Given the description of an element on the screen output the (x, y) to click on. 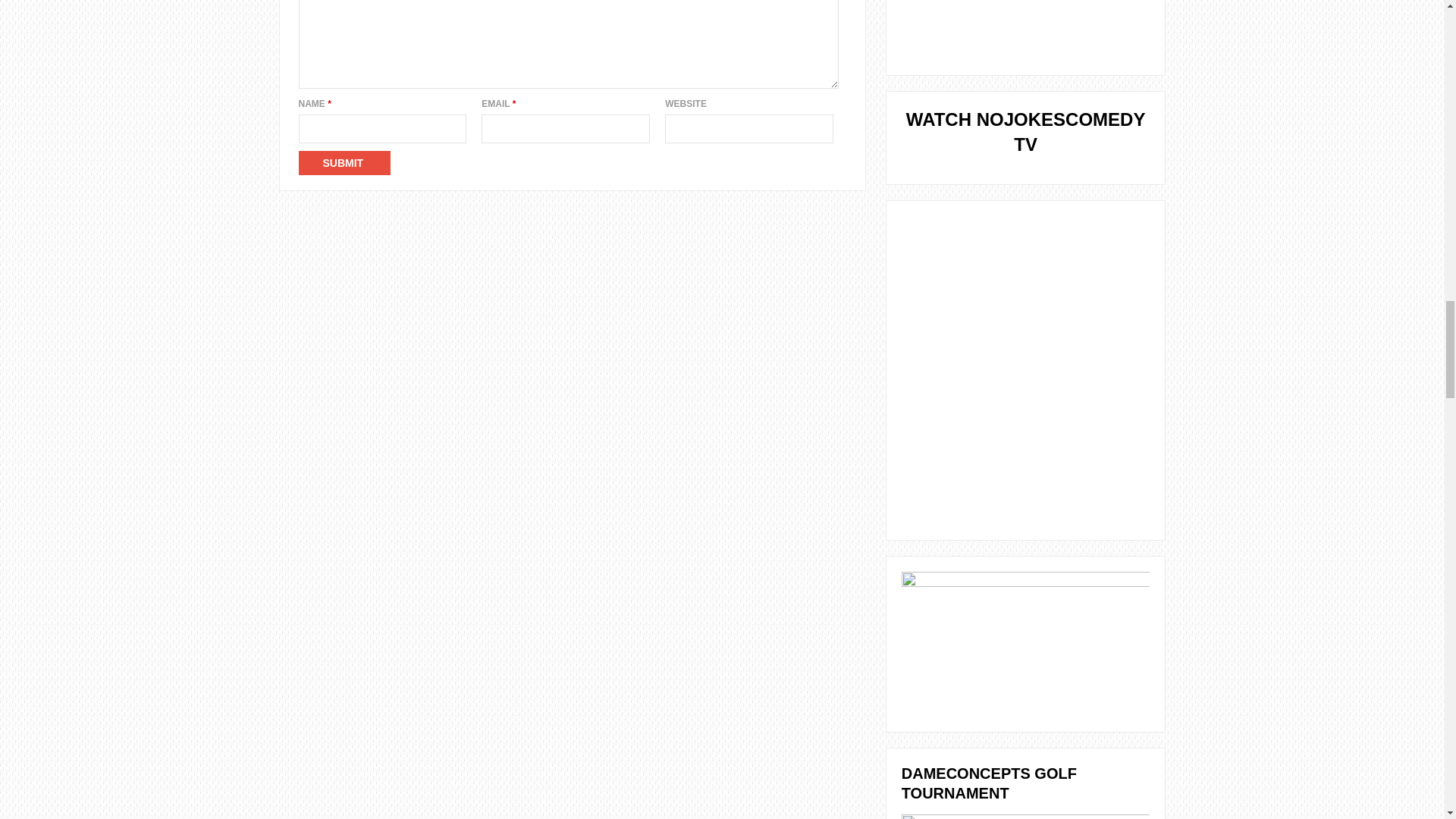
Submit  (344, 162)
Submit  (344, 162)
